Given the description of an element on the screen output the (x, y) to click on. 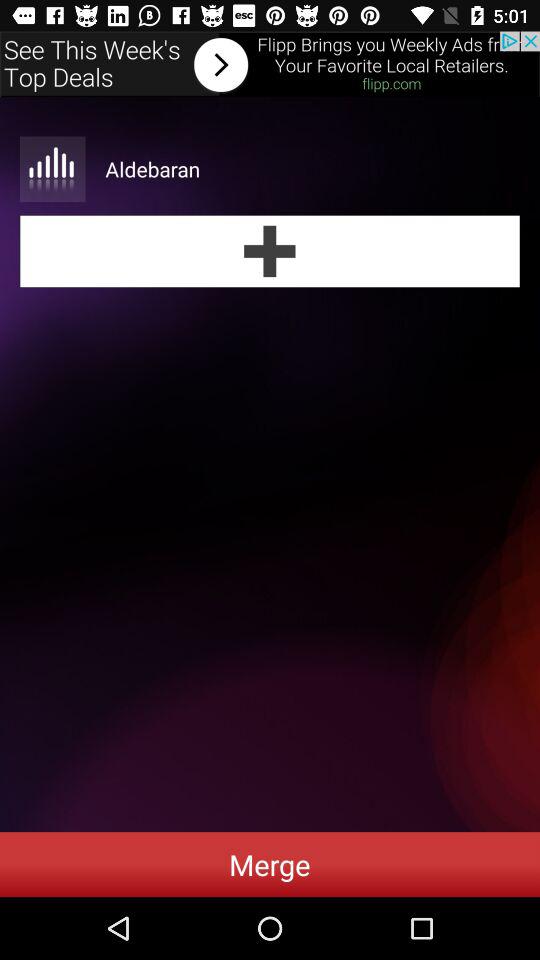
go to next (270, 64)
